Given the description of an element on the screen output the (x, y) to click on. 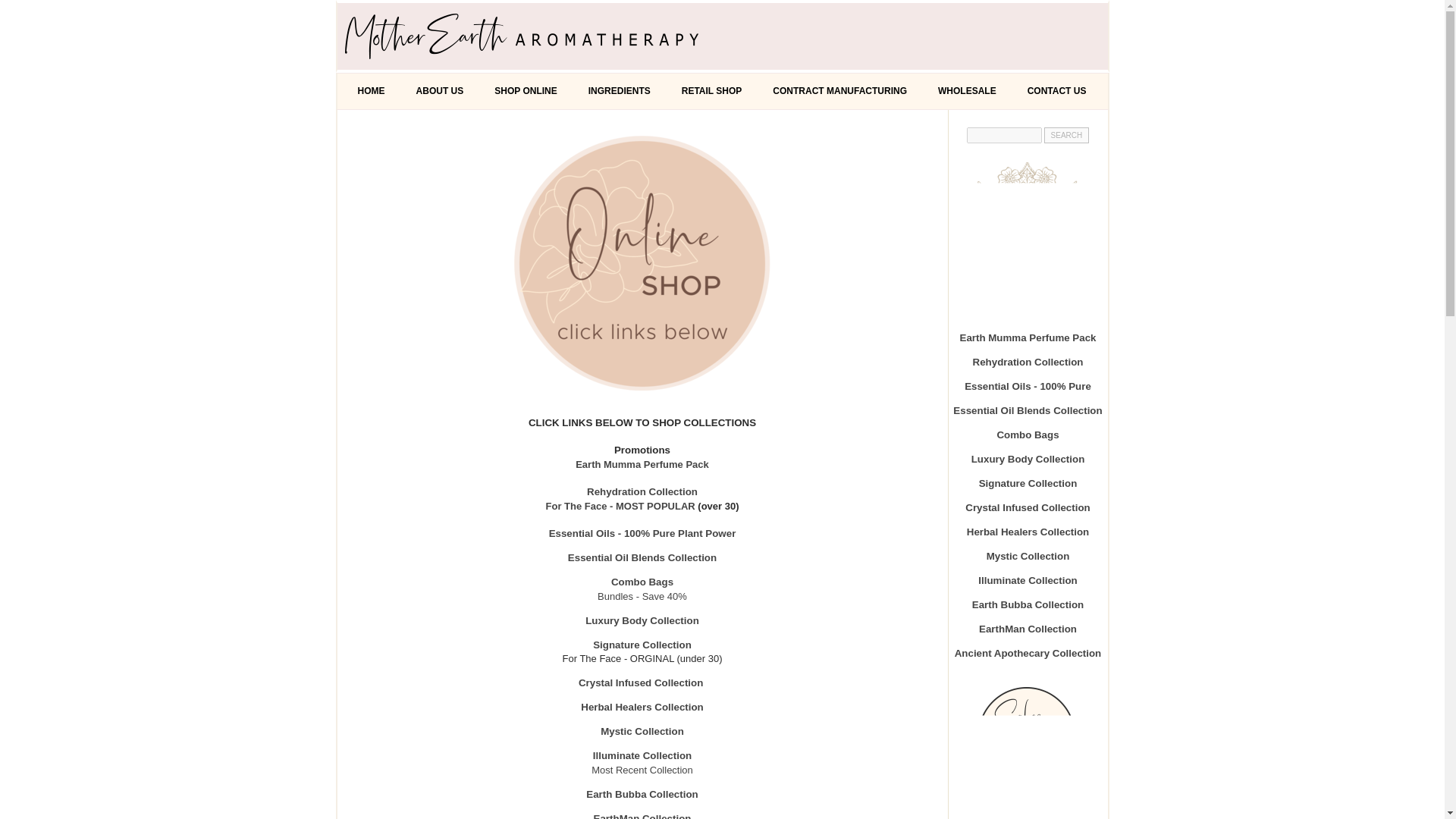
Rehydration Collection (641, 491)
Earth Bubba Collection (641, 794)
Luxury Body Collection (641, 620)
Signature Collection (1027, 482)
SHOP ONLINE (525, 91)
For The Face - MOST POPULAR (620, 505)
Earth Mumma Perfume Pack (1027, 337)
Essential Oil Blends Collection (1027, 410)
EarthMan Collection (642, 816)
Rehydration Collection (1027, 361)
